Given the description of an element on the screen output the (x, y) to click on. 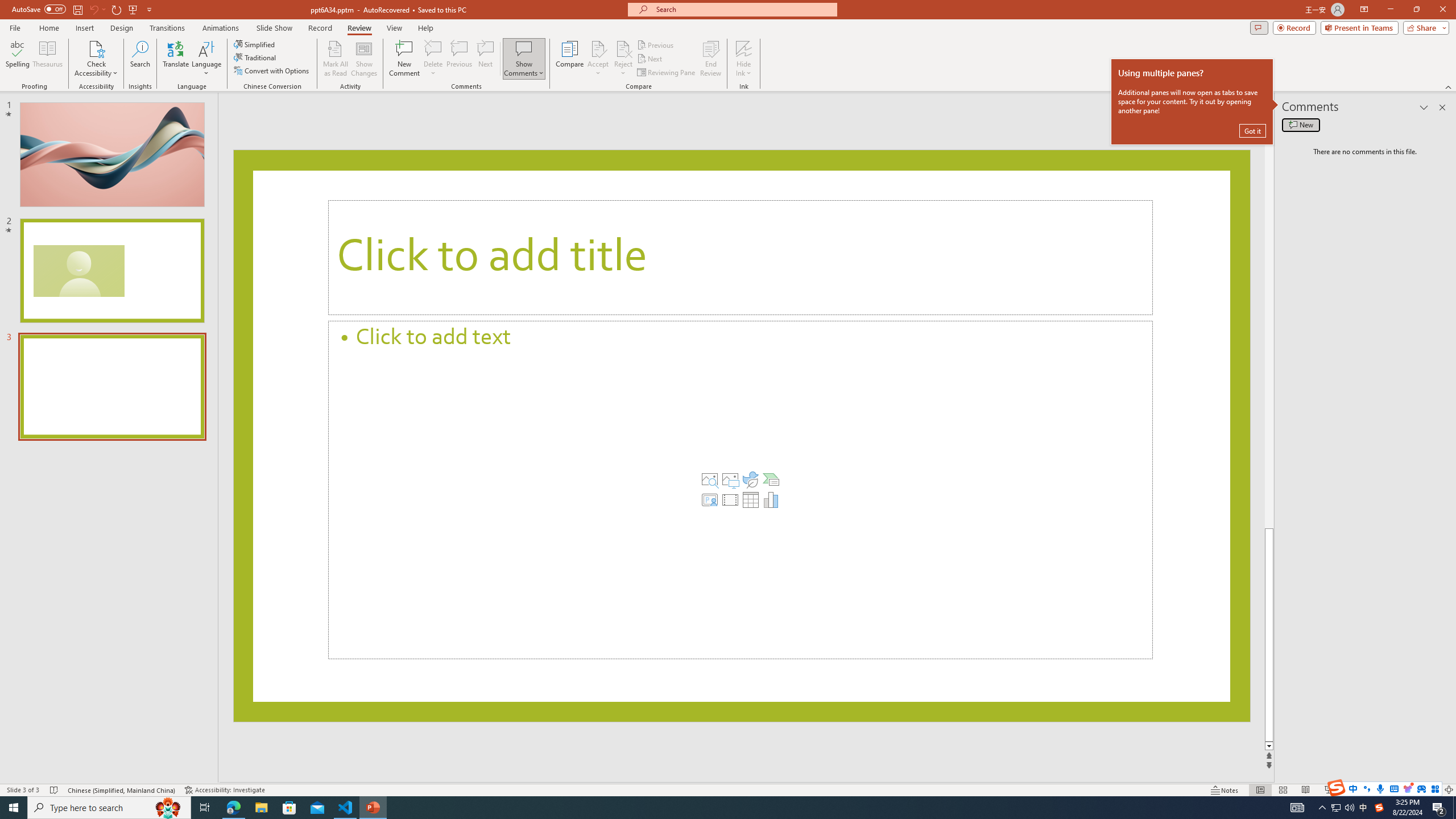
Translate (175, 58)
Reject (622, 58)
Accept Change (598, 48)
